Given the description of an element on the screen output the (x, y) to click on. 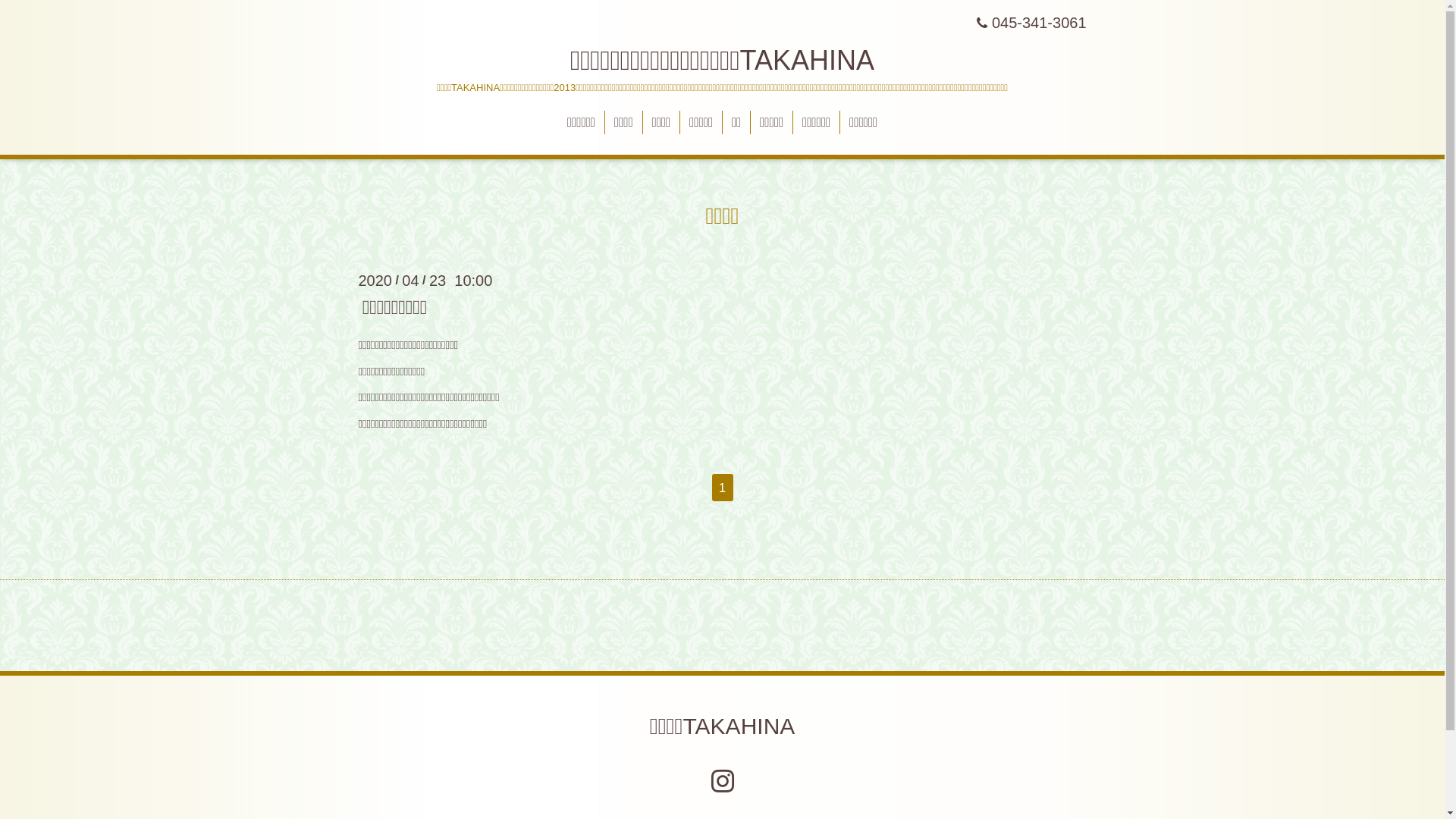
1 Element type: text (721, 487)
